Given the description of an element on the screen output the (x, y) to click on. 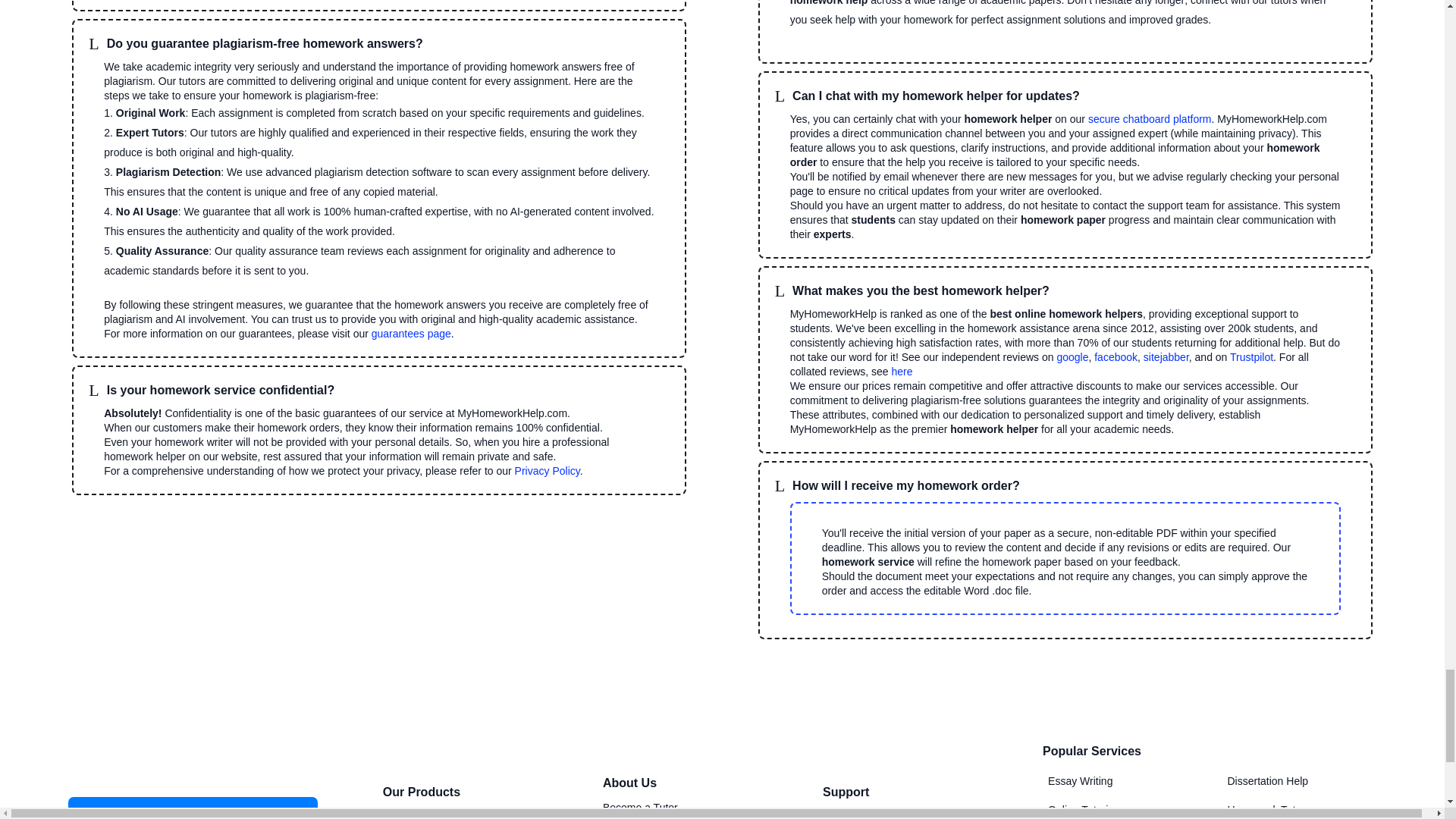
FAQ (833, 814)
